Given the description of an element on the screen output the (x, y) to click on. 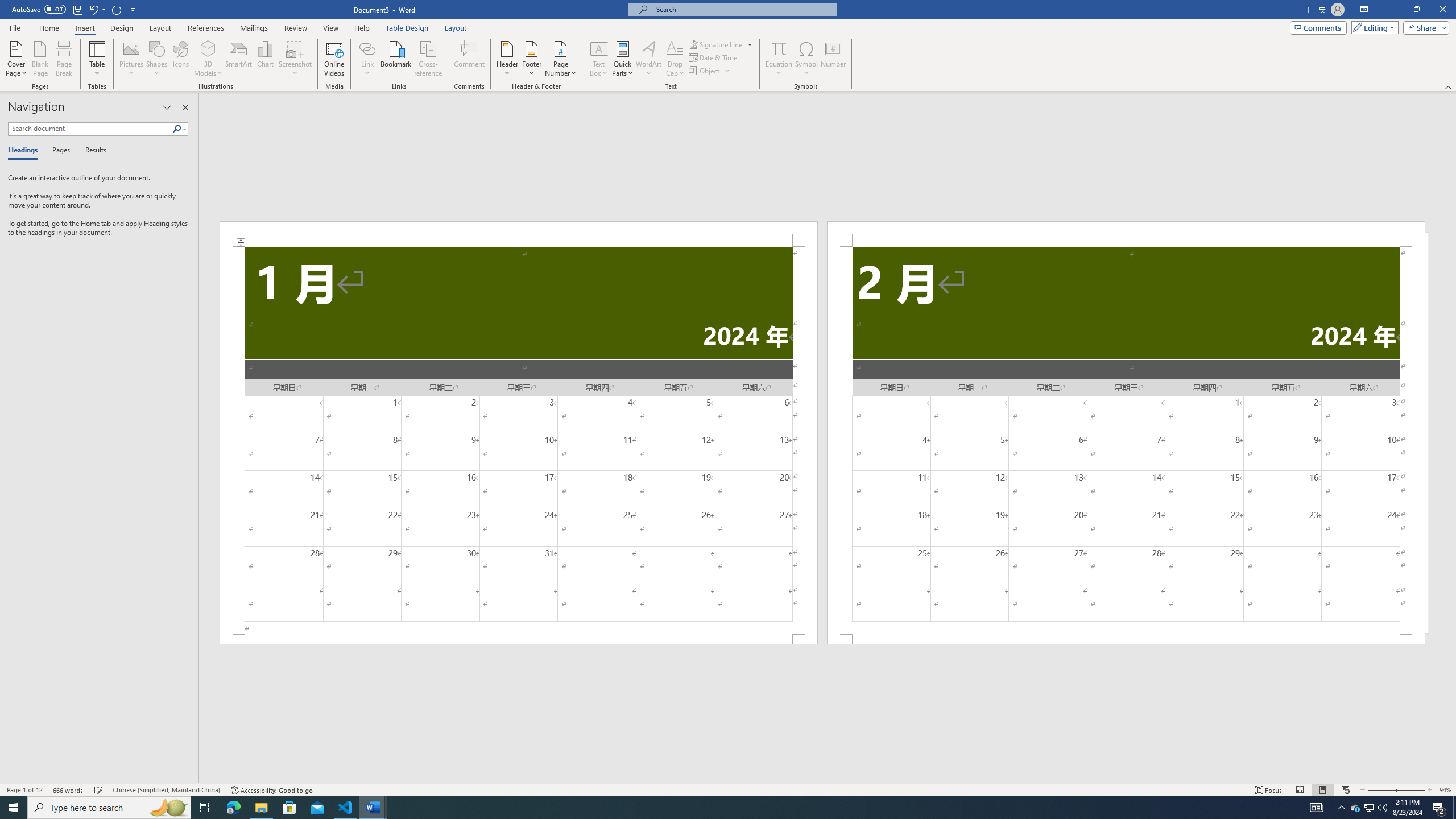
Header (507, 58)
Equation (778, 58)
Link (367, 58)
Cover Page (16, 58)
Comment (469, 58)
SmartArt... (238, 58)
Class: NetUIScrollBar (827, 778)
Page Number (560, 58)
Signature Line (721, 44)
Header -Section 1- (518, 233)
3D Models (208, 48)
WordArt (648, 58)
